Given the description of an element on the screen output the (x, y) to click on. 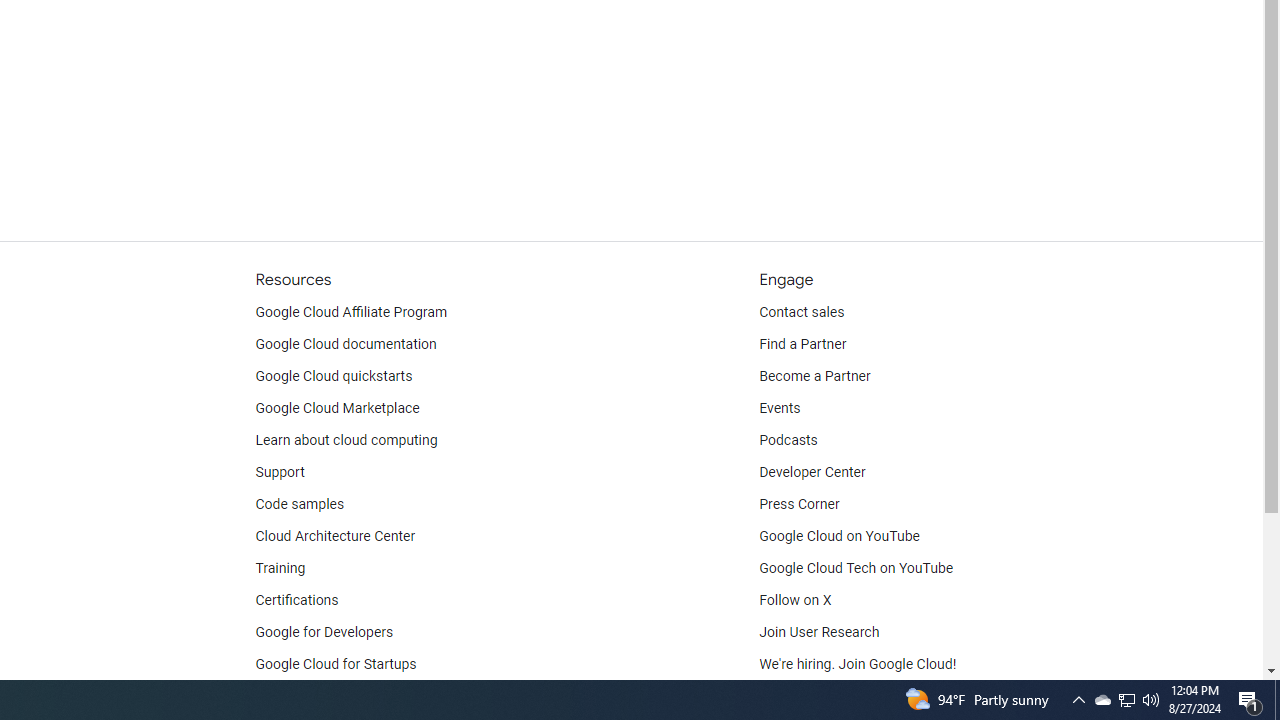
Google Cloud Marketplace (336, 408)
Google Cloud quickstarts (333, 376)
Training (279, 568)
Google Cloud for Startups (335, 664)
Google Cloud on YouTube (839, 536)
Follow on X (795, 600)
Events (780, 408)
Support (279, 472)
Google for Developers (324, 632)
Google Cloud Tech on YouTube (856, 568)
Contact sales (801, 312)
Join User Research (819, 632)
Certifications (296, 600)
Code samples (299, 504)
Become a Partner (814, 376)
